Given the description of an element on the screen output the (x, y) to click on. 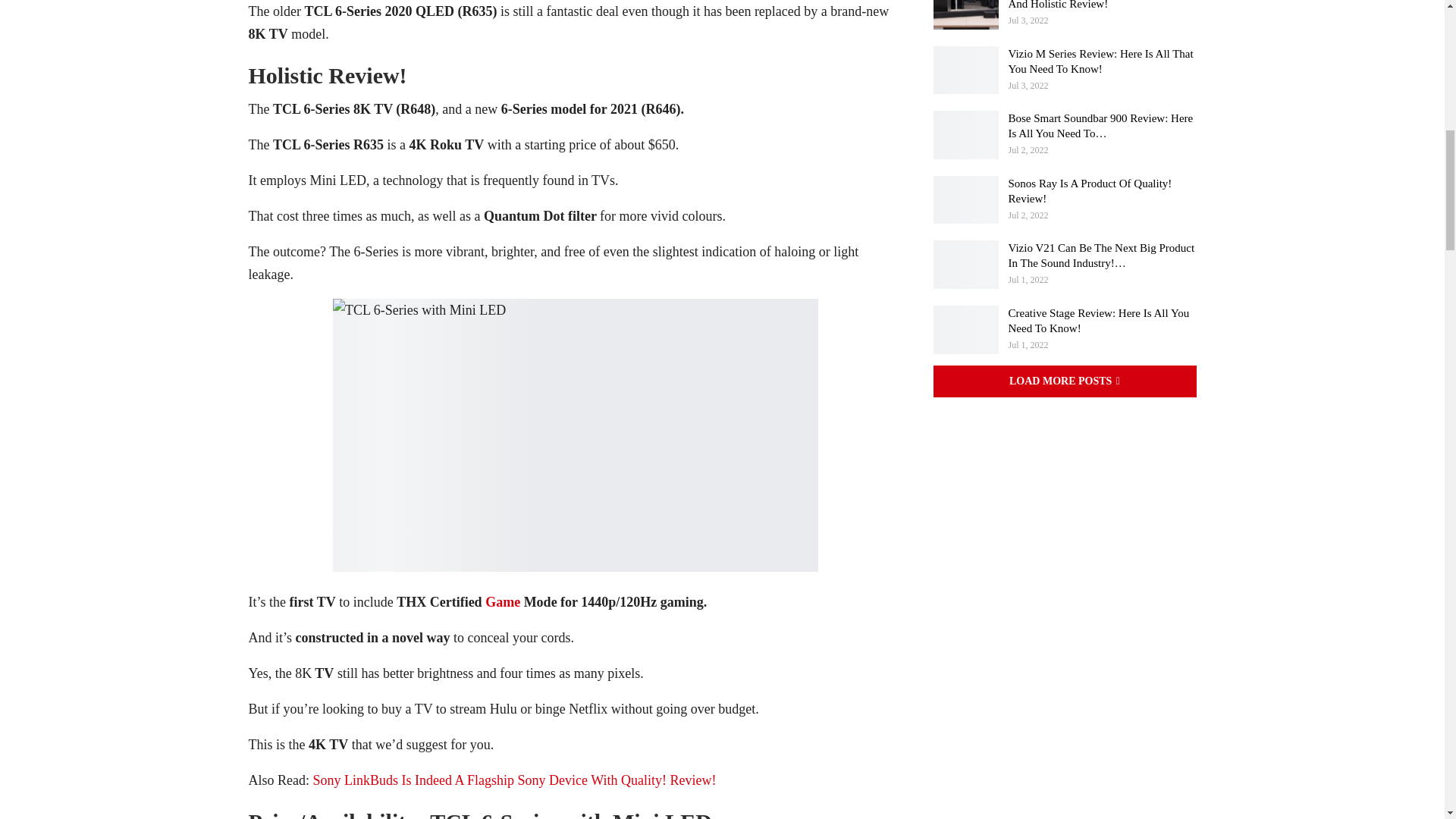
Game (501, 601)
